Given the description of an element on the screen output the (x, y) to click on. 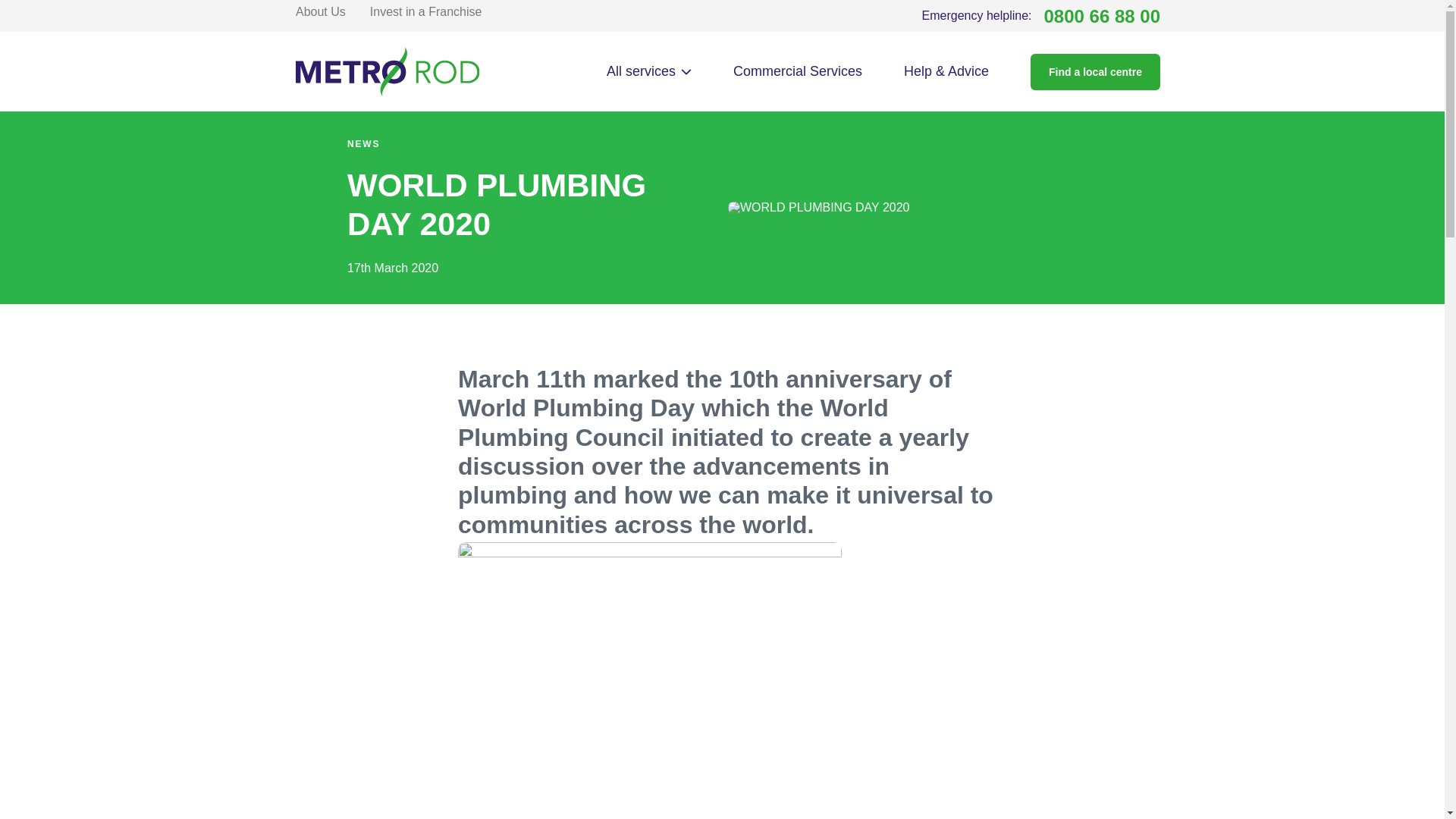
All services (649, 71)
Pump Services (1040, 15)
Tanker Services (380, 216)
Invest in a Franchise (380, 256)
Drainage Services (425, 11)
About Us (380, 167)
